Given the description of an element on the screen output the (x, y) to click on. 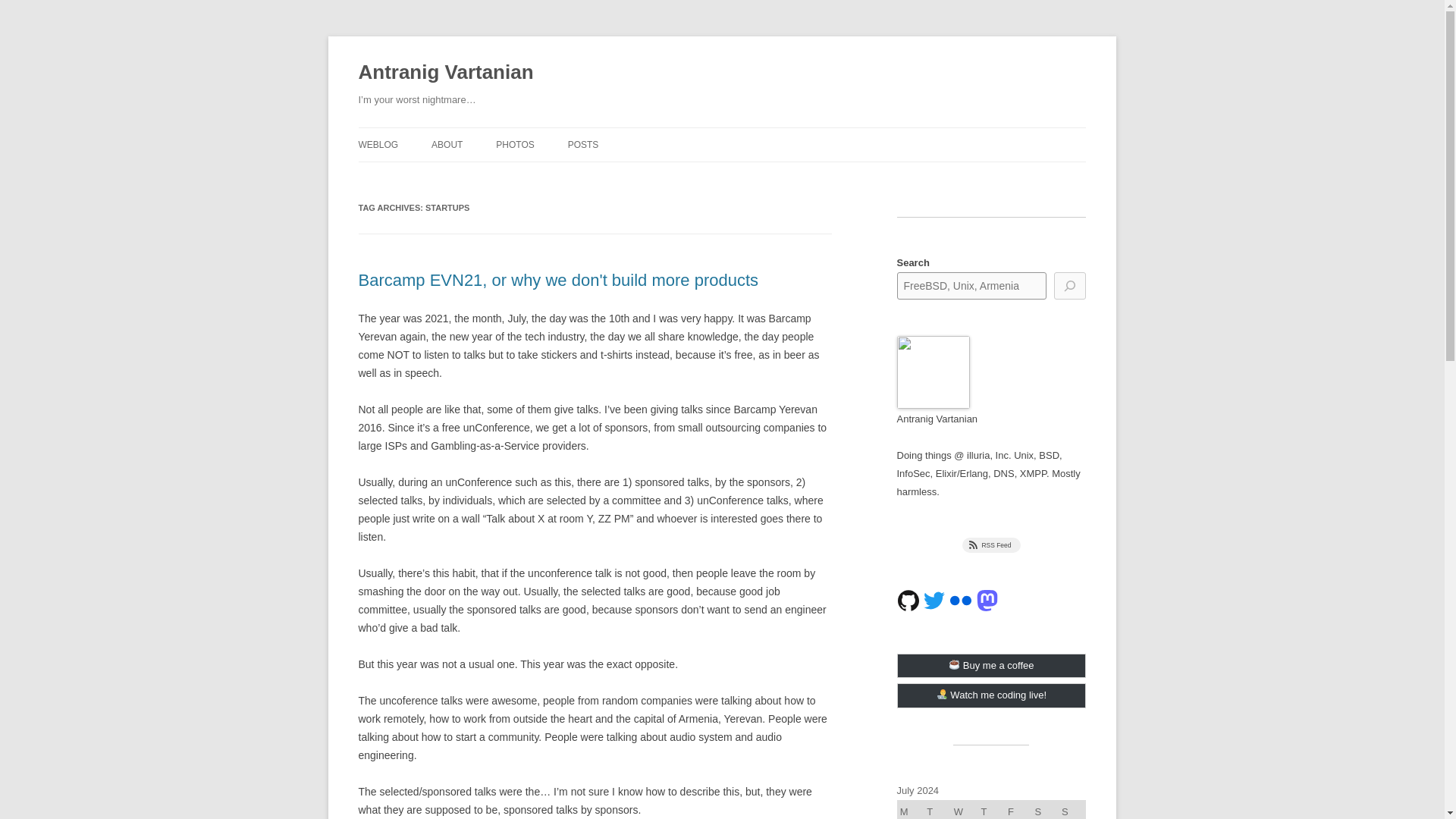
POSTS (582, 144)
Barcamp EVN21, or why we don't build more products (558, 280)
Thursday (992, 809)
CATEGORIES (643, 176)
Wednesday (964, 809)
Antranig Vartanian (445, 72)
Tuesday (938, 809)
RSS Feed (992, 544)
WEBLOG (377, 144)
Watch me coding live! (991, 695)
ABOUT (446, 144)
Monday (910, 809)
Buy me a coffee (991, 665)
PHOTOS (515, 144)
